Given the description of an element on the screen output the (x, y) to click on. 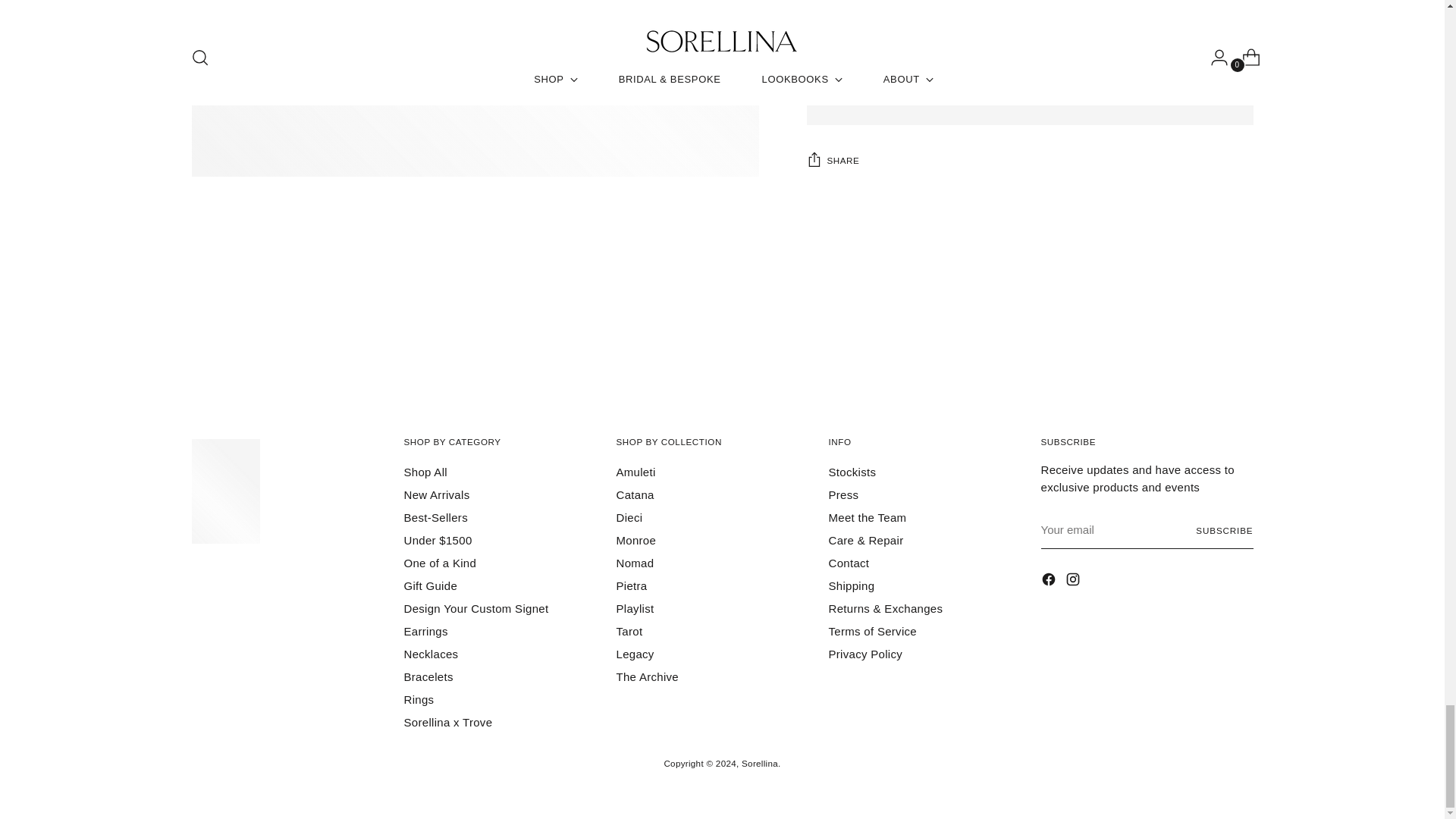
Sorellina on Facebook (1049, 581)
Sorellina on Instagram (1073, 581)
